Given the description of an element on the screen output the (x, y) to click on. 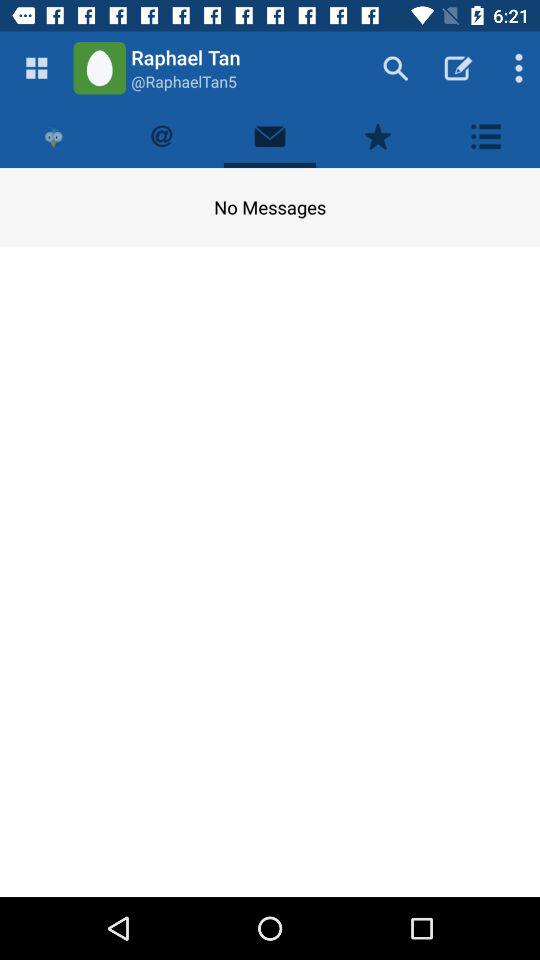
go to messages (270, 136)
